Given the description of an element on the screen output the (x, y) to click on. 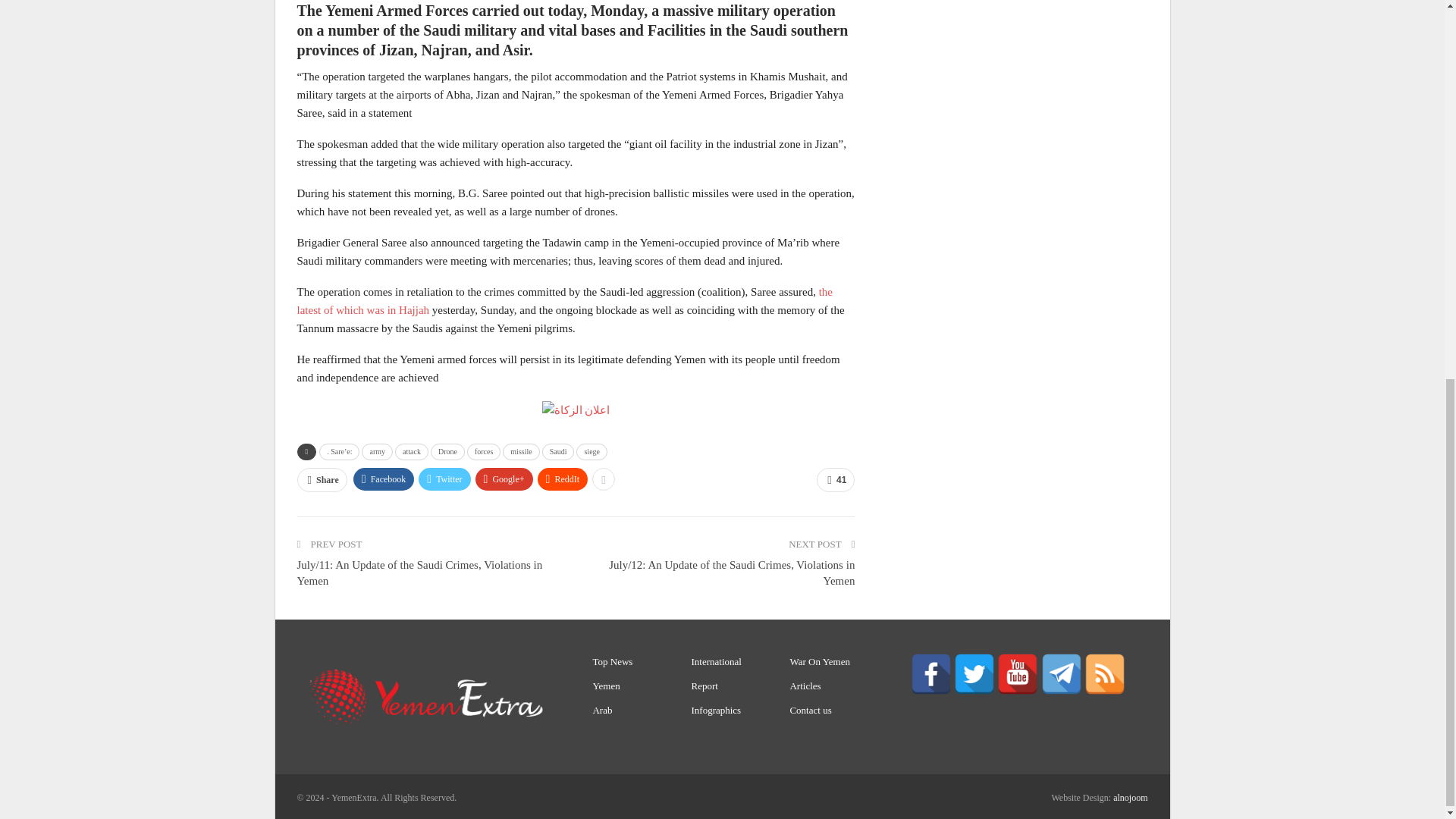
Twitter (973, 673)
YouTube (1017, 673)
Telegram (1061, 673)
Facebook (931, 673)
RSS Feed (1104, 673)
